Given the description of an element on the screen output the (x, y) to click on. 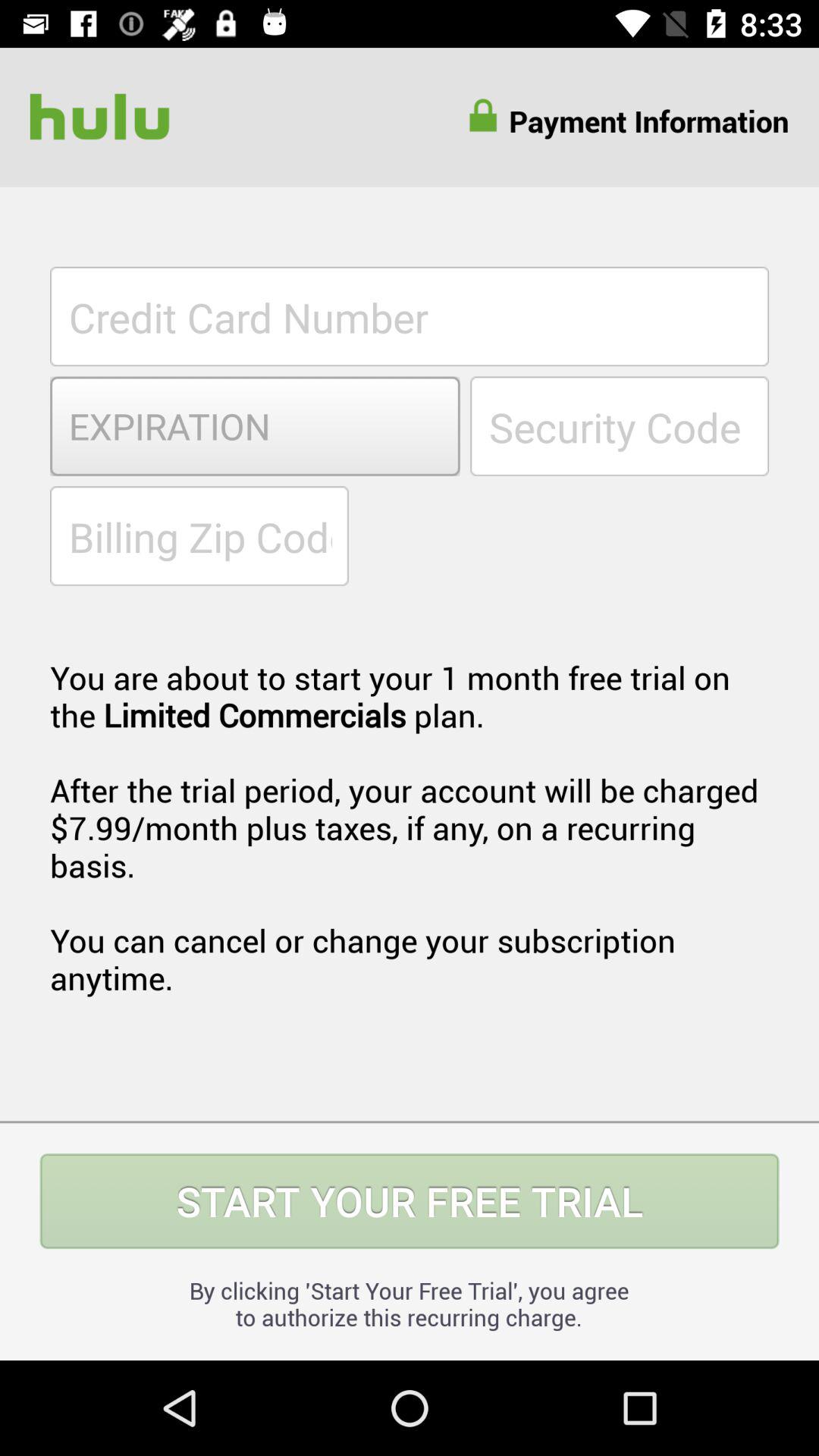
enter security code (619, 426)
